Given the description of an element on the screen output the (x, y) to click on. 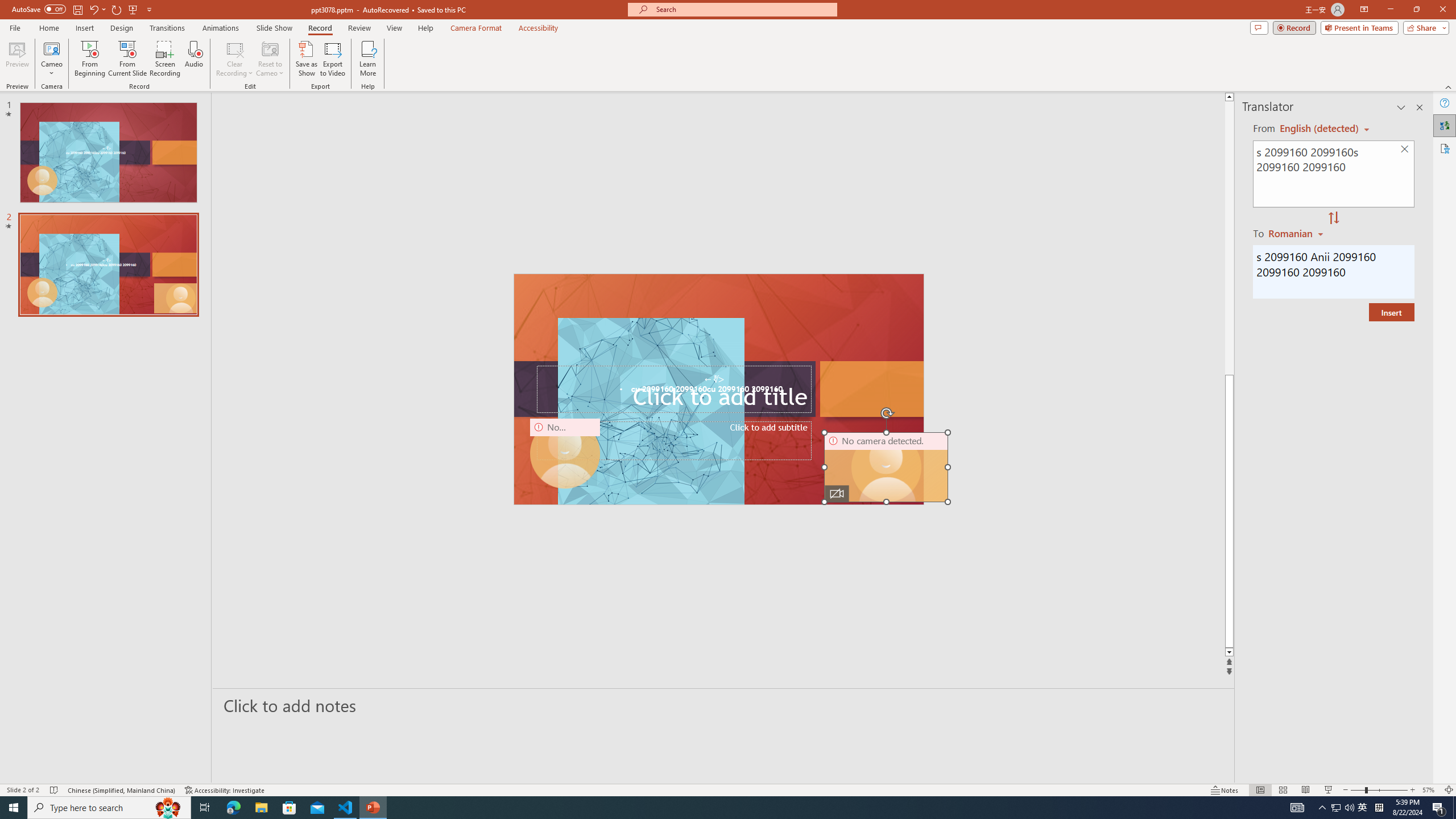
Reading View (1305, 790)
Transitions (167, 28)
Preview (17, 58)
Zoom to Fit  (1449, 790)
Clear text (1404, 149)
Spell Check No Errors (54, 790)
Save as Show (306, 58)
Slide (108, 264)
Slide Sorter (1282, 790)
Export to Video (332, 58)
From Current Slide... (127, 58)
Romanian (1296, 232)
Accessibility (1444, 147)
Ribbon Display Options (1364, 9)
